Given the description of an element on the screen output the (x, y) to click on. 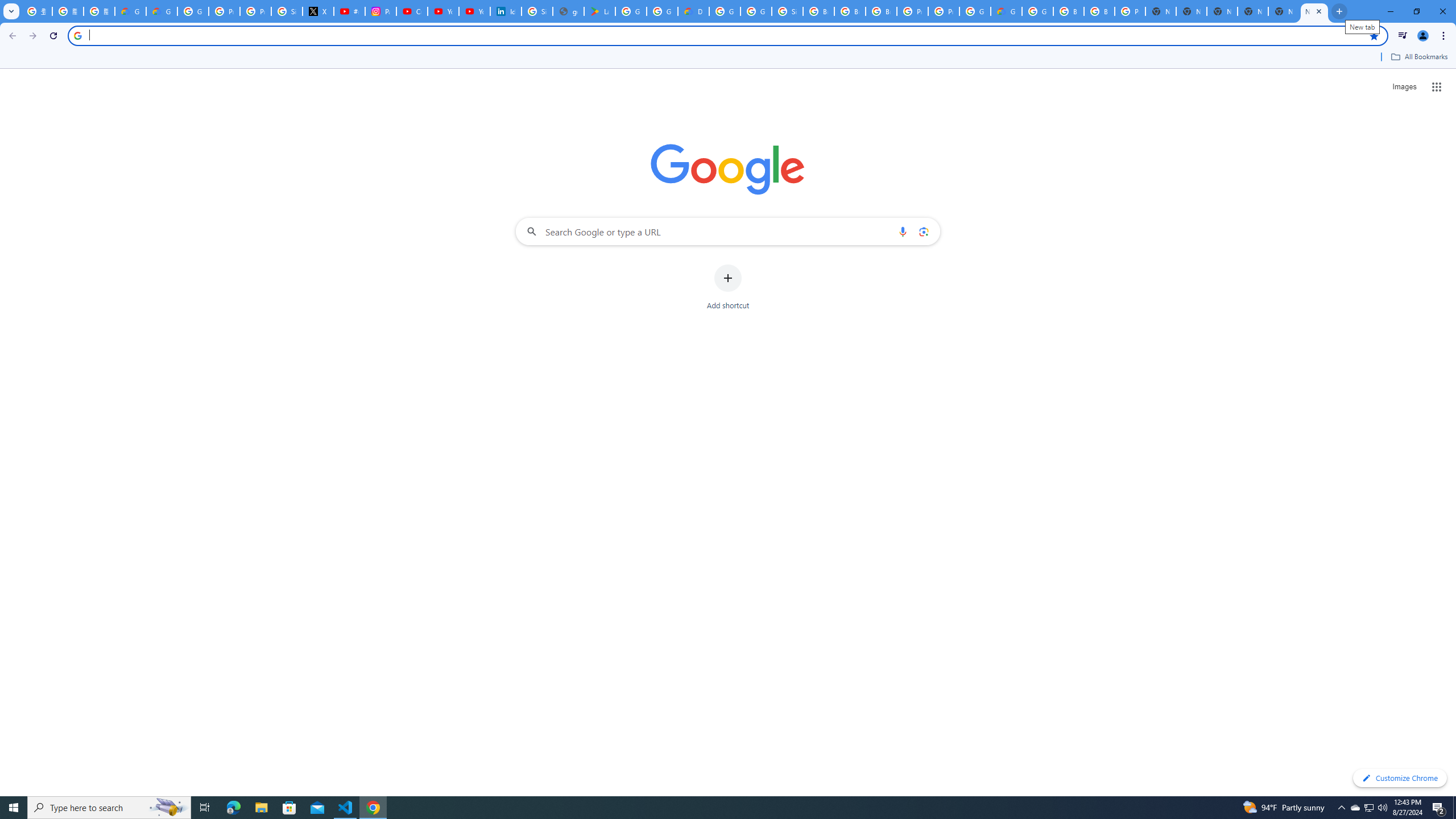
New Tab (1314, 11)
Browse Chrome as a guest - Computer - Google Chrome Help (1098, 11)
Google Cloud Privacy Notice (130, 11)
New Tab (1160, 11)
Privacy Help Center - Policies Help (255, 11)
Identity verification via Persona | LinkedIn Help (505, 11)
Google Cloud Privacy Notice (161, 11)
google_privacy_policy_en.pdf (568, 11)
Search by image (922, 230)
